Given the description of an element on the screen output the (x, y) to click on. 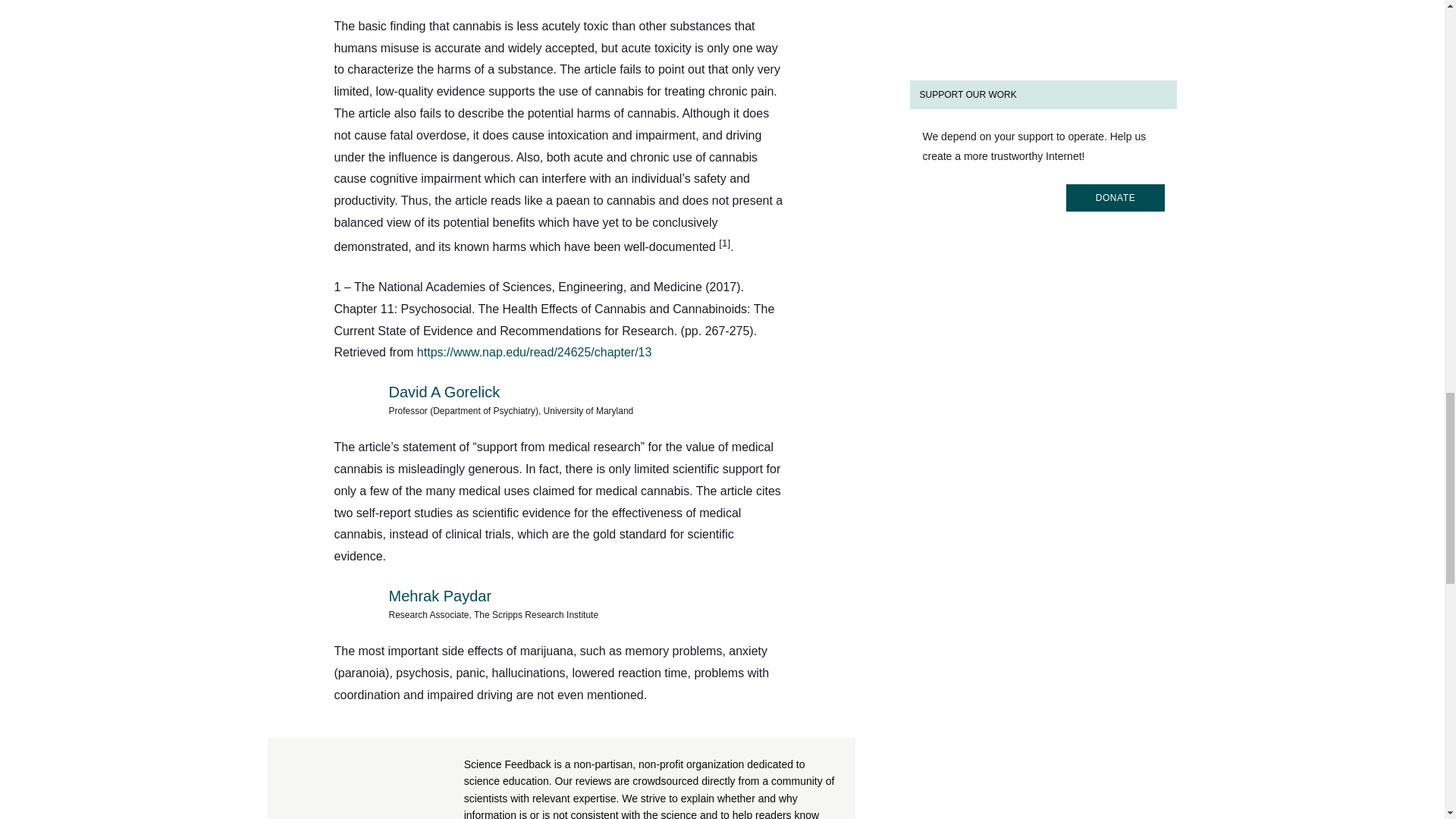
David A Gorelick (443, 392)
Mehrak Paydar (440, 596)
